Given the description of an element on the screen output the (x, y) to click on. 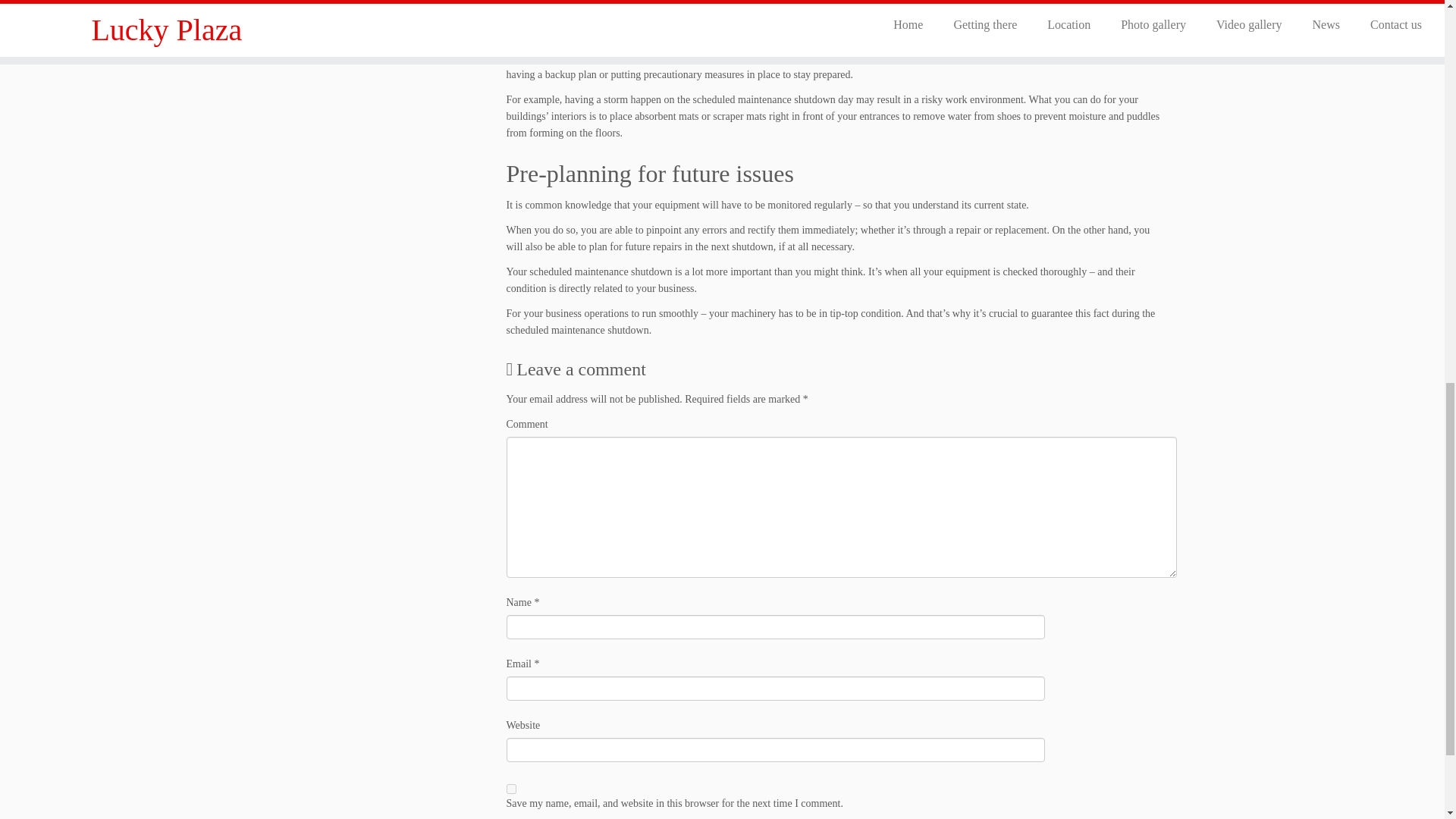
yes (511, 788)
